Given the description of an element on the screen output the (x, y) to click on. 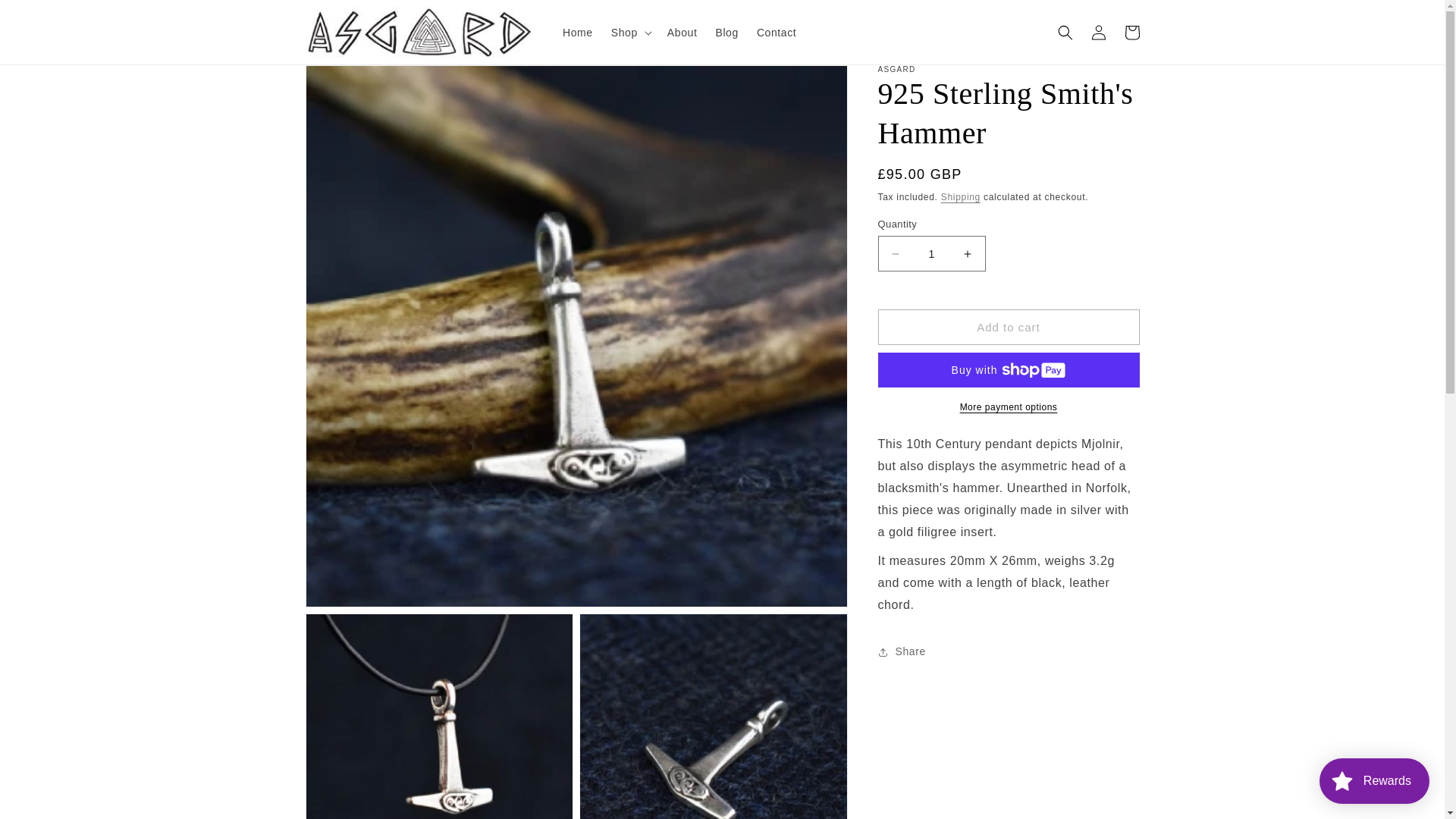
Skip to content (45, 17)
1 (931, 253)
